Given the description of an element on the screen output the (x, y) to click on. 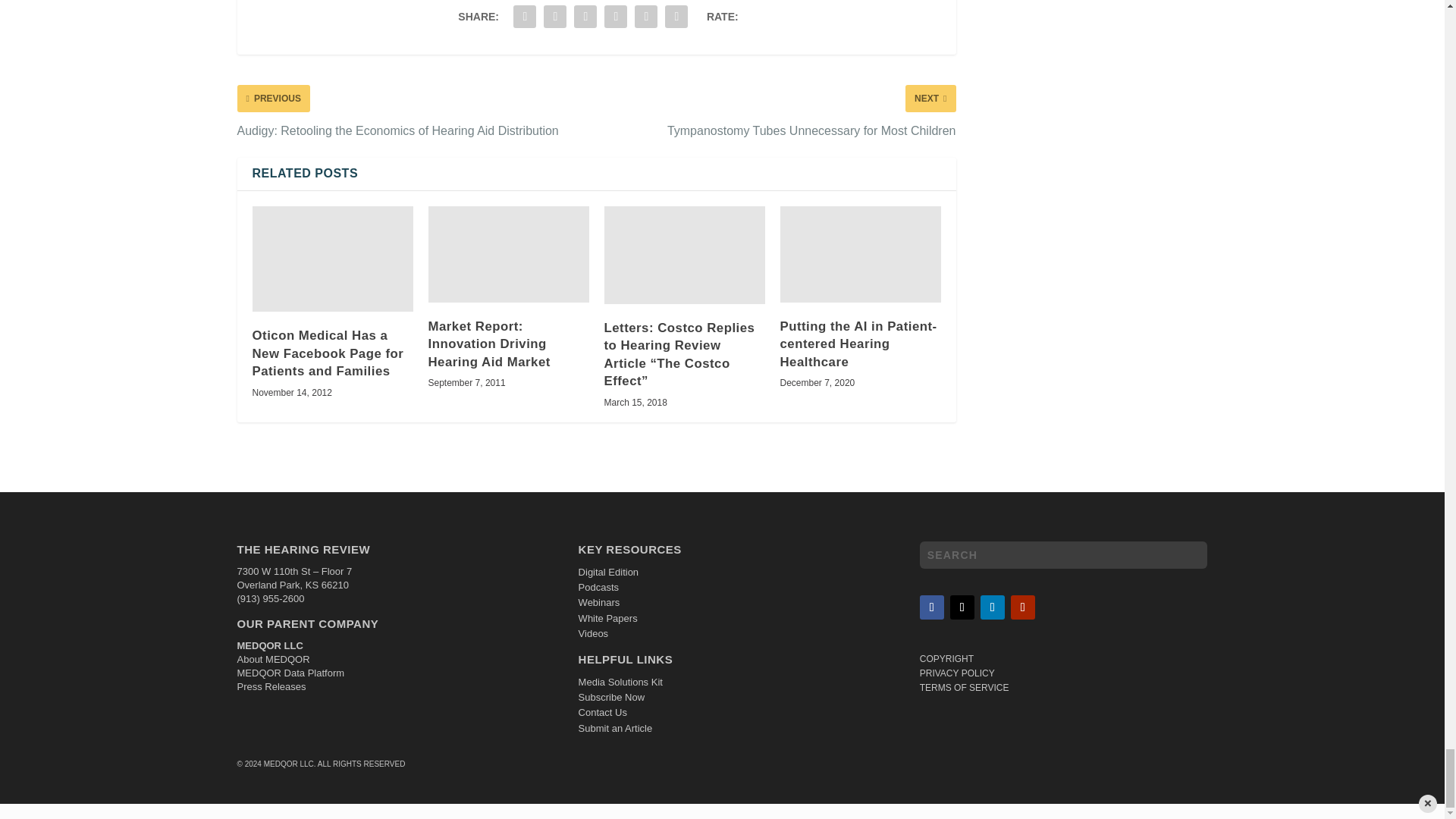
Follow on Youtube (1022, 607)
Share "HR 2008 Web Site Review" via Email (645, 16)
Follow on Facebook (931, 607)
Share "HR 2008 Web Site Review" via Facebook (524, 16)
Market Report: Innovation Driving Hearing Aid Market (508, 253)
Follow on LinkedIn (991, 607)
Share "HR 2008 Web Site Review" via Buffer (614, 16)
Share "HR 2008 Web Site Review" via LinkedIn (584, 16)
Share "HR 2008 Web Site Review" via Print (676, 16)
